Given the description of an element on the screen output the (x, y) to click on. 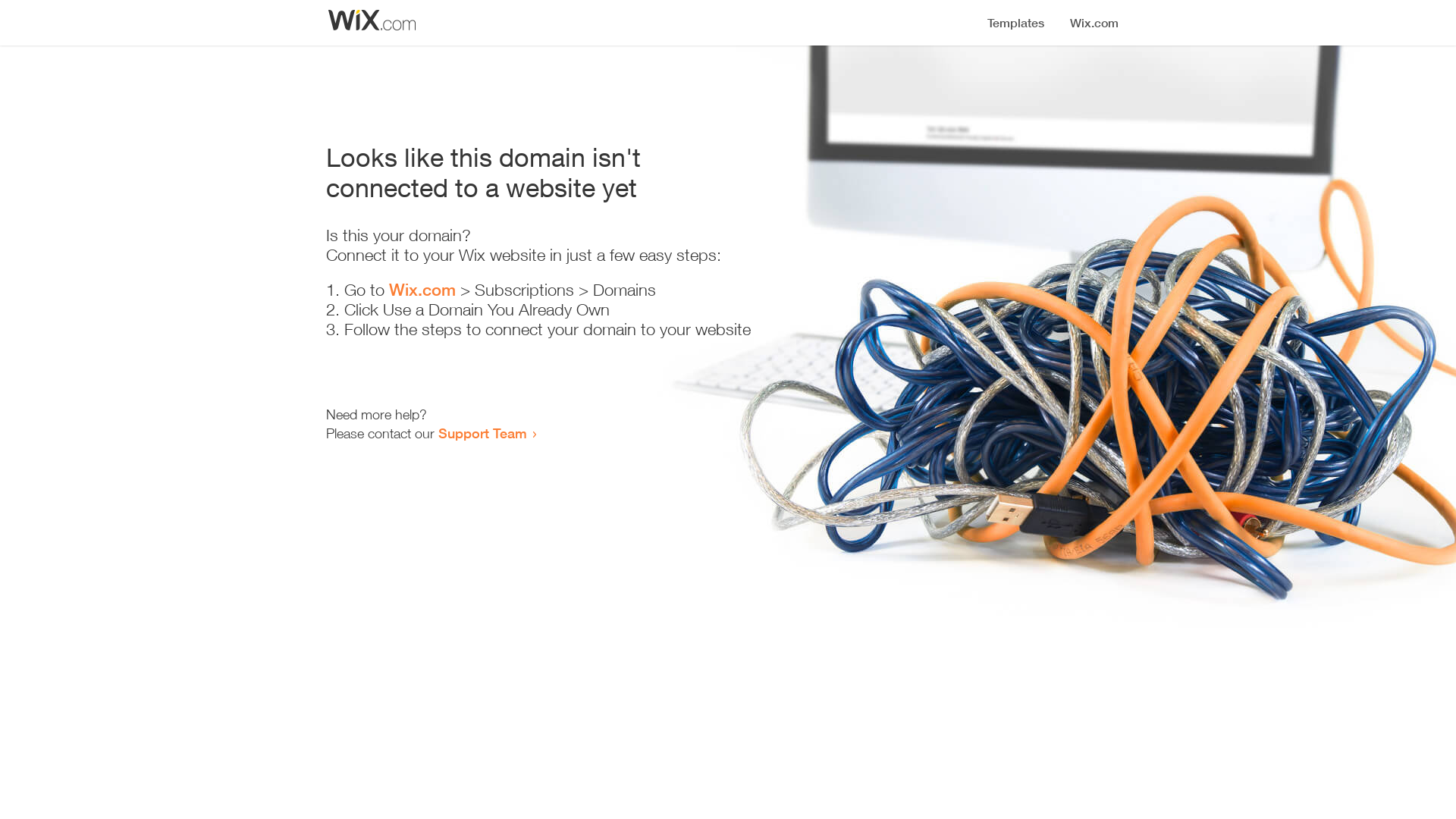
Wix.com Element type: text (422, 289)
Support Team Element type: text (482, 432)
